Given the description of an element on the screen output the (x, y) to click on. 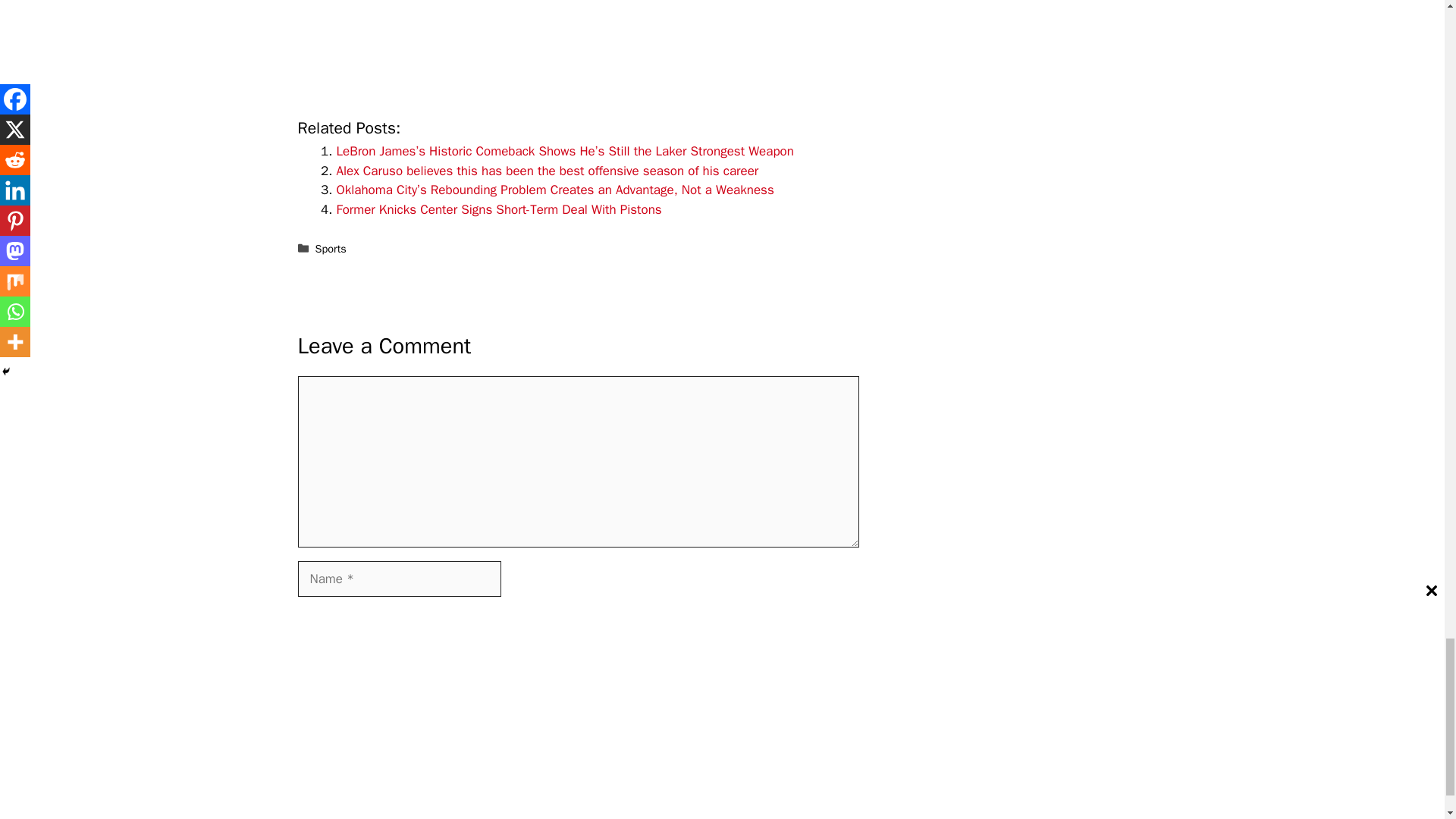
yes (302, 701)
Former Knicks Center Signs Short-Term Deal With Pistons (499, 209)
Sports (330, 248)
Post Comment (349, 747)
